Given the description of an element on the screen output the (x, y) to click on. 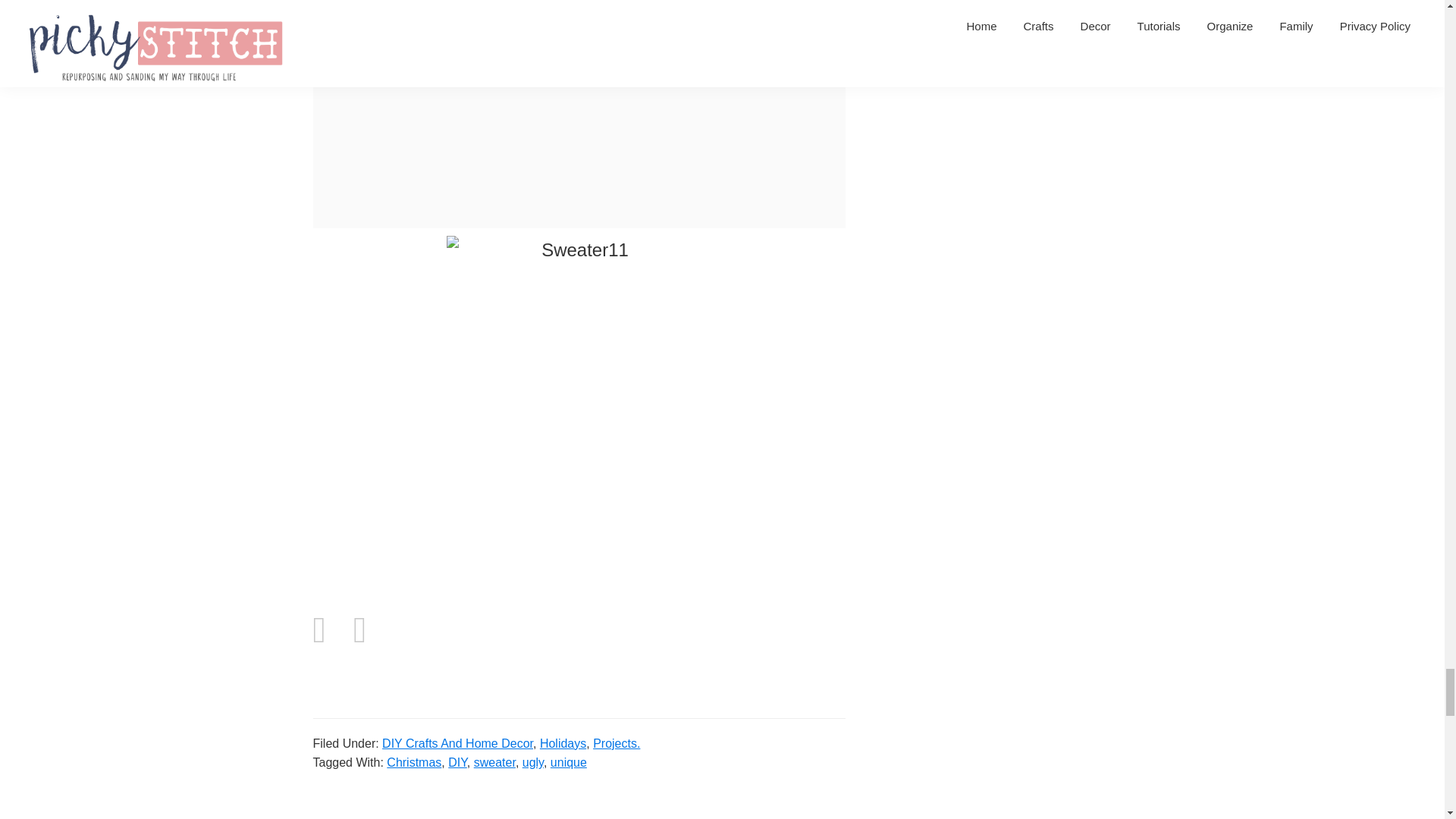
DIY Crafts And Home Decor (456, 743)
Christmas (414, 762)
unique (568, 762)
Holidays (563, 743)
Projects. (616, 743)
sweater (494, 762)
DIY (457, 762)
ugly (532, 762)
